Given the description of an element on the screen output the (x, y) to click on. 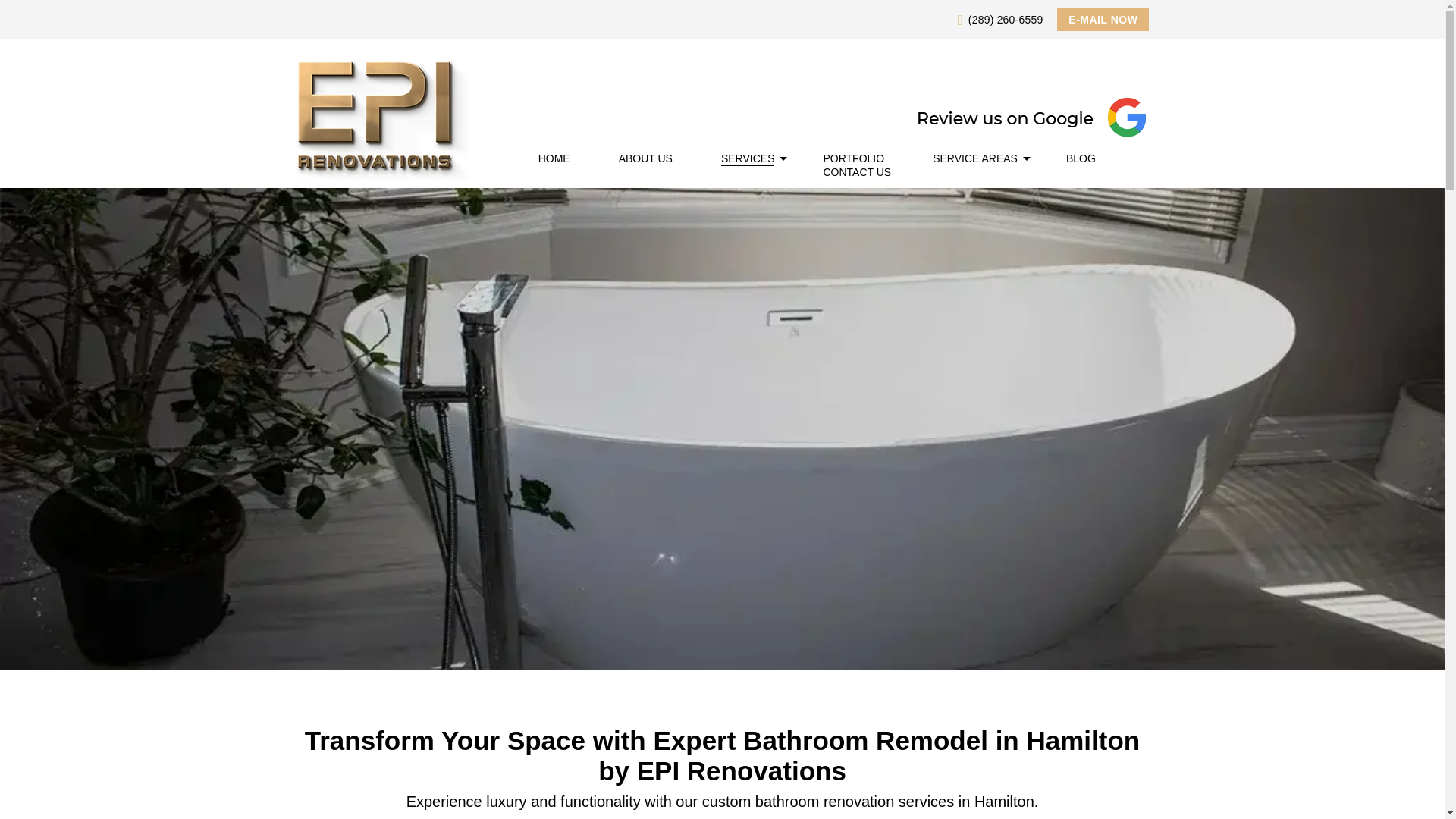
HOME (554, 158)
SERVICES (747, 158)
E-MAIL NOW (1102, 19)
ABOUT US (645, 158)
SERVICE AREAS (975, 158)
PORTFOLIO (852, 158)
BLOG (1080, 158)
CONTACT US (856, 172)
